Given the description of an element on the screen output the (x, y) to click on. 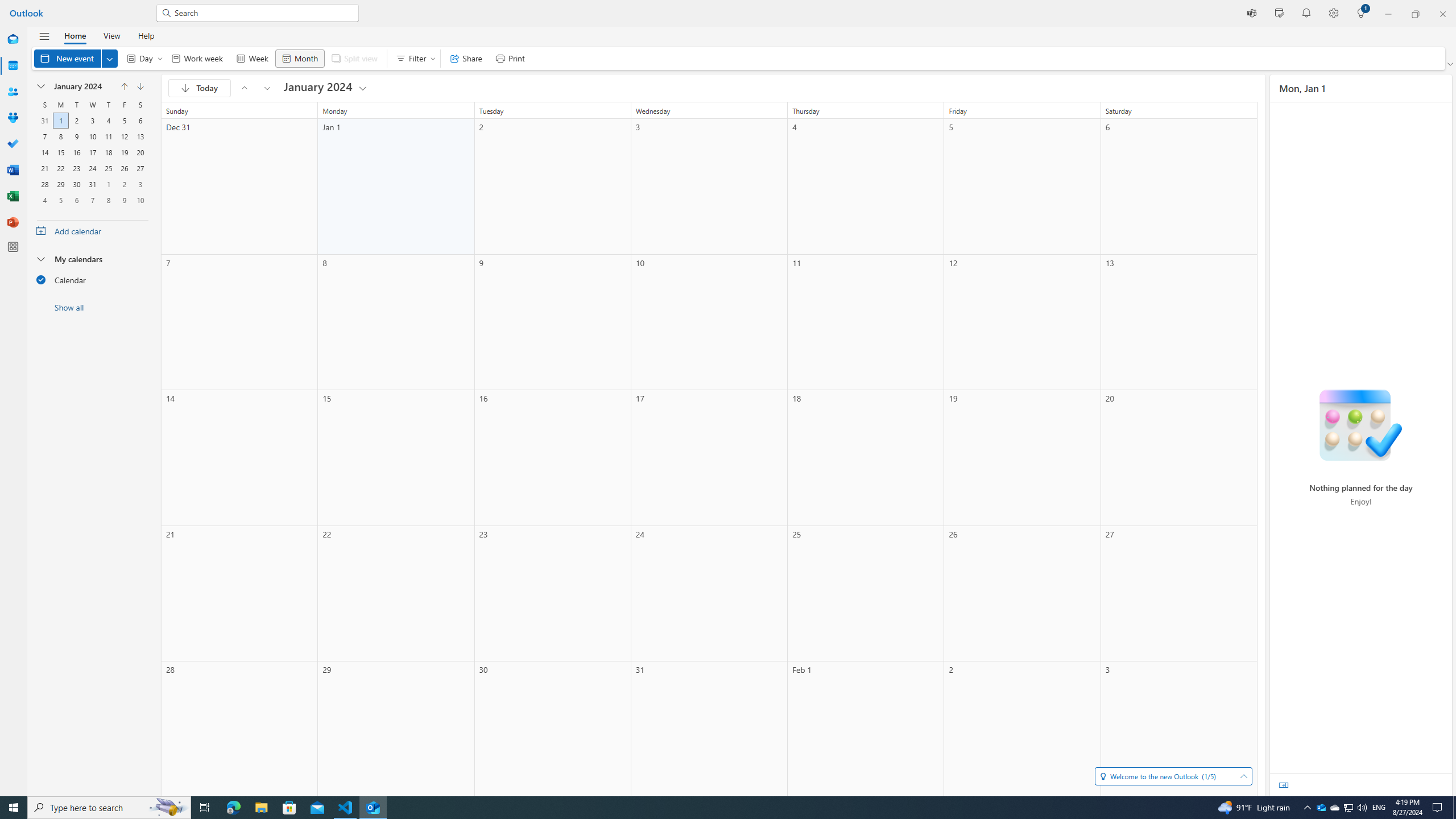
People (12, 92)
System (6, 6)
1, January, 2024 (60, 120)
Week (251, 58)
8, January, 2024 (60, 136)
3, January, 2024 (92, 120)
15, January, 2024 (59, 151)
20, January, 2024 (140, 152)
2, January, 2024 (75, 120)
5, February, 2024 (59, 200)
1, February, 2024 (108, 183)
Split view (354, 58)
Share (465, 58)
9, February, 2024 (124, 200)
